Given the description of an element on the screen output the (x, y) to click on. 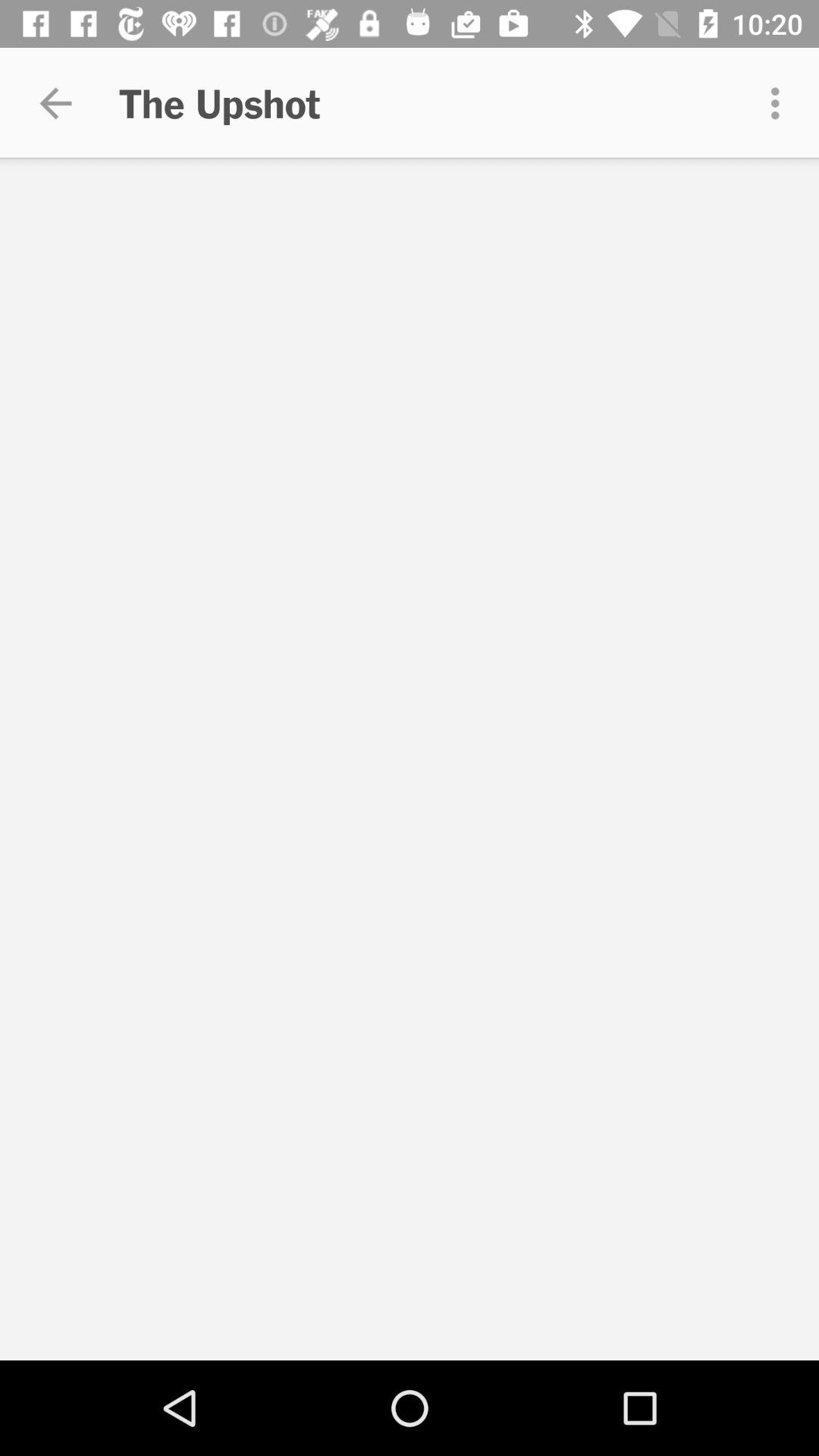
click the item to the right of the upshot (779, 103)
